Given the description of an element on the screen output the (x, y) to click on. 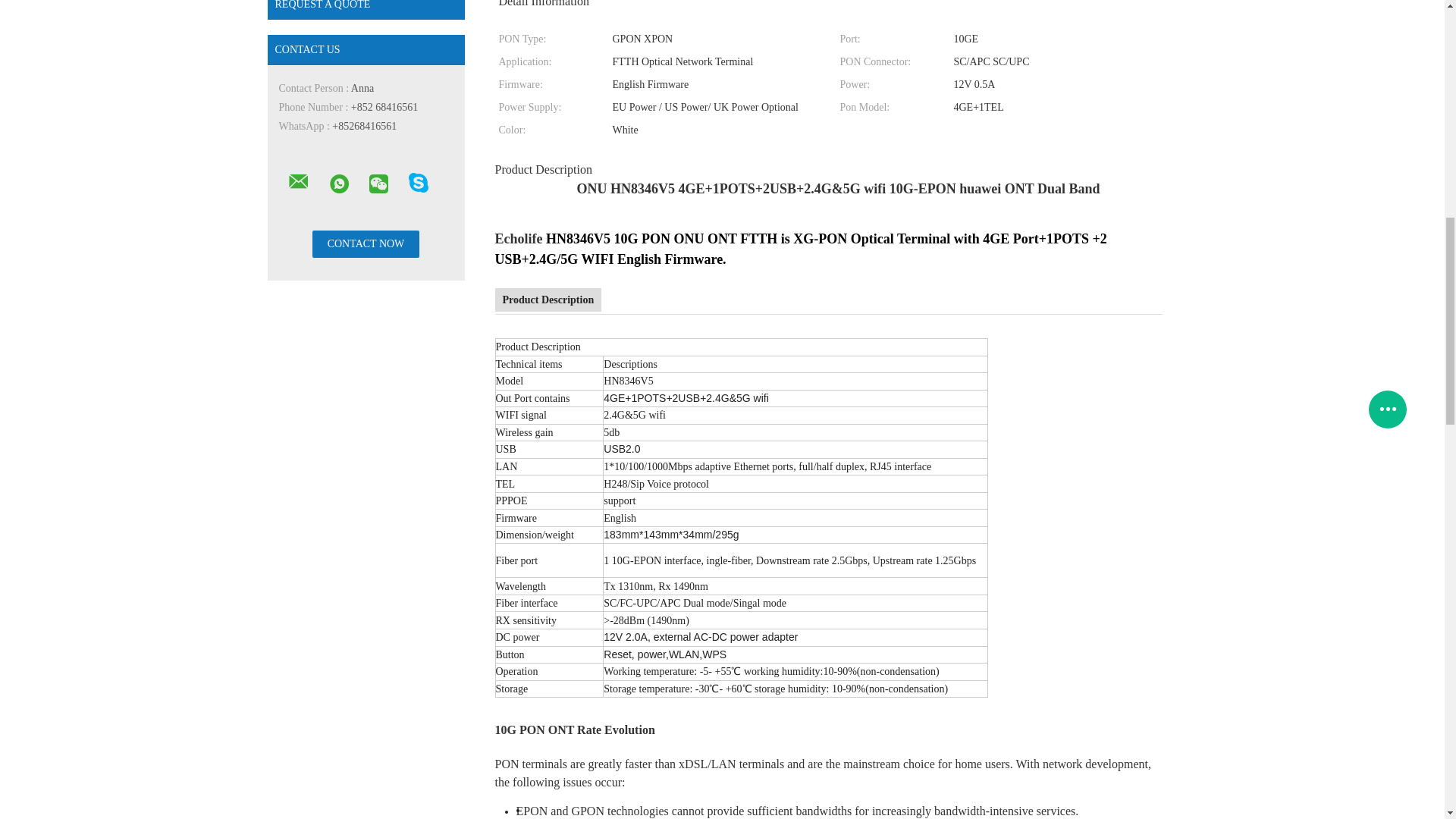
Contact Now (366, 243)
